Given the description of an element on the screen output the (x, y) to click on. 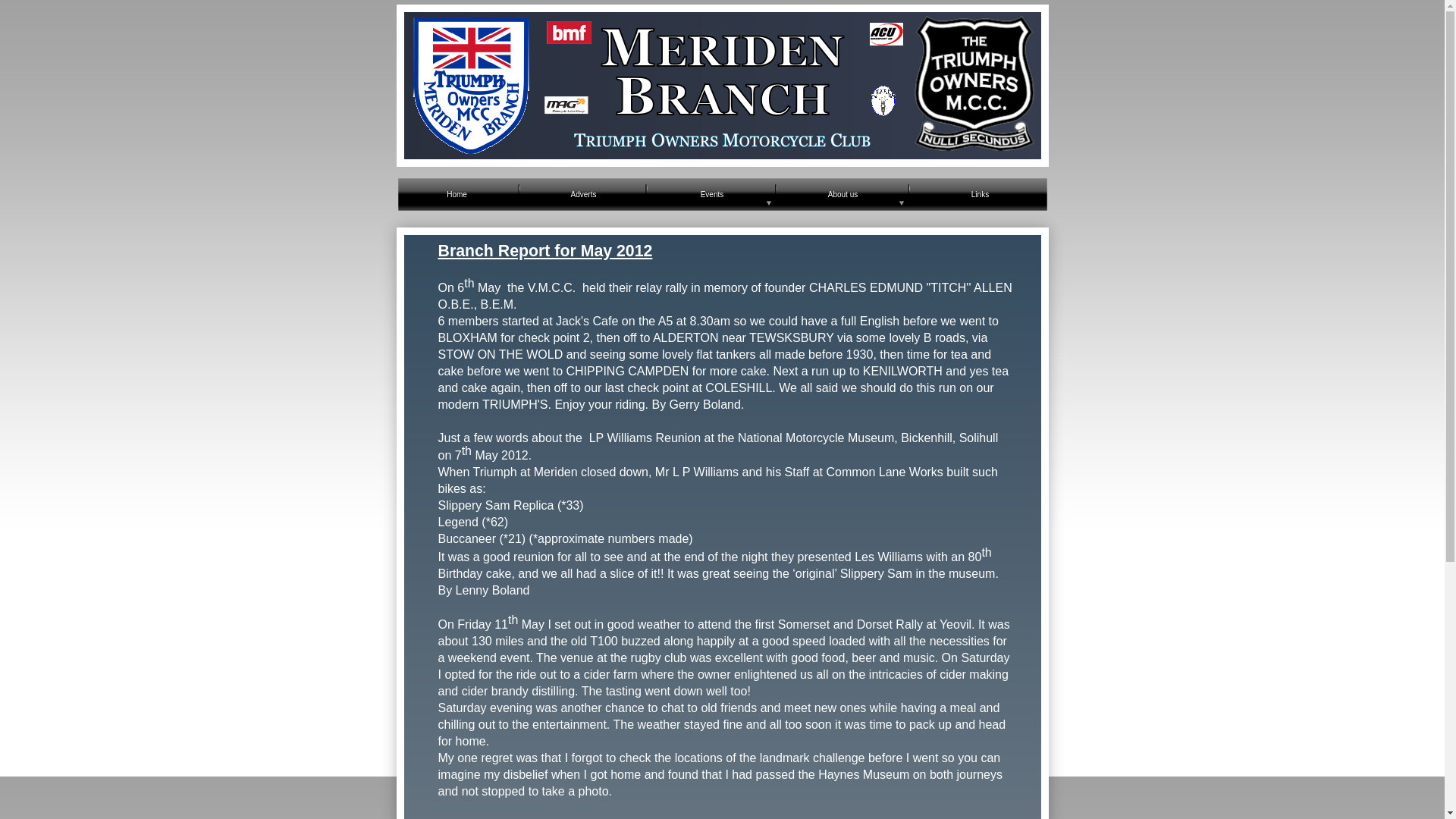
Events (711, 194)
Home (456, 194)
Links (979, 194)
Adverts (582, 194)
About us (841, 194)
